Given the description of an element on the screen output the (x, y) to click on. 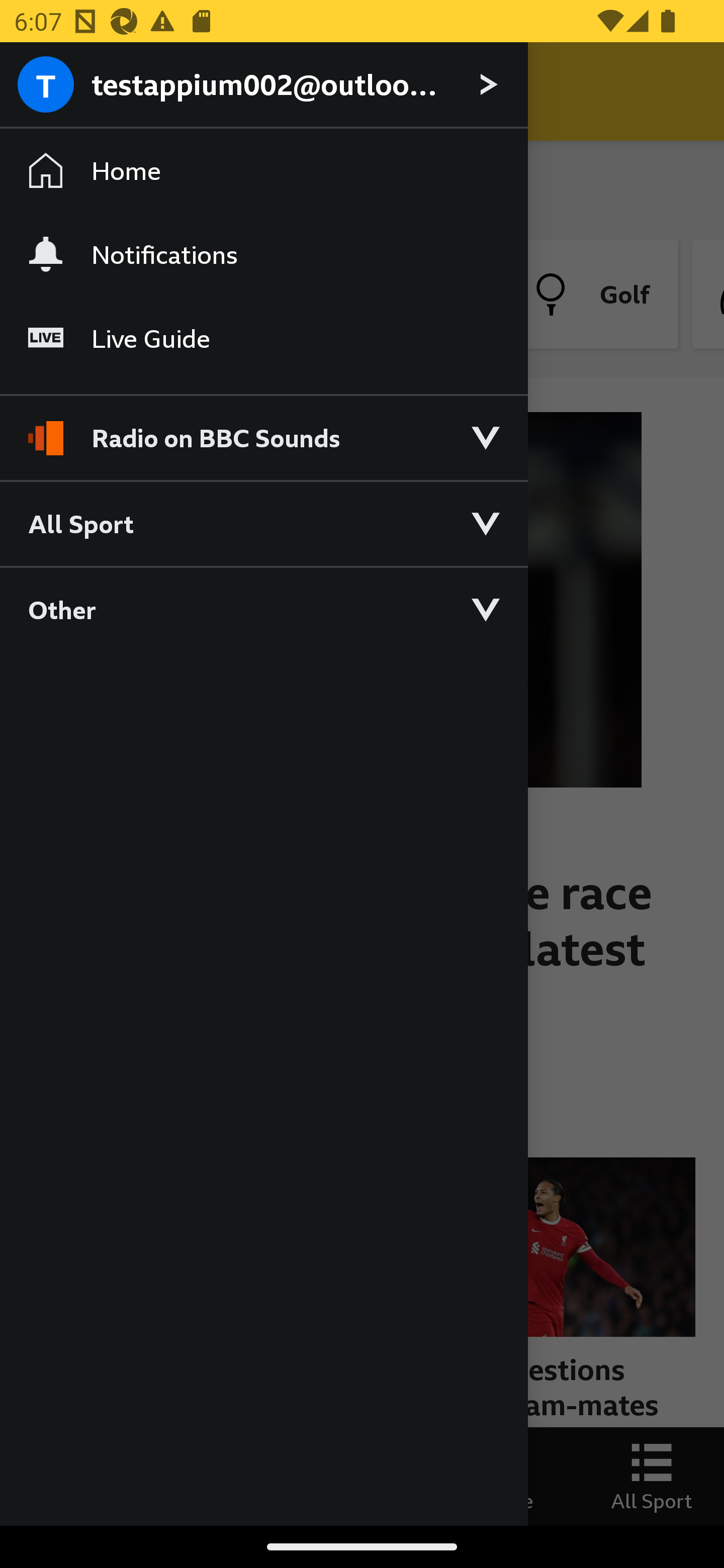
testappium002@outlook.com (263, 85)
Home (263, 170)
Notifications (263, 253)
Live Guide (263, 338)
Radio on BBC Sounds (263, 429)
All Sport (263, 522)
Other (263, 609)
